Given the description of an element on the screen output the (x, y) to click on. 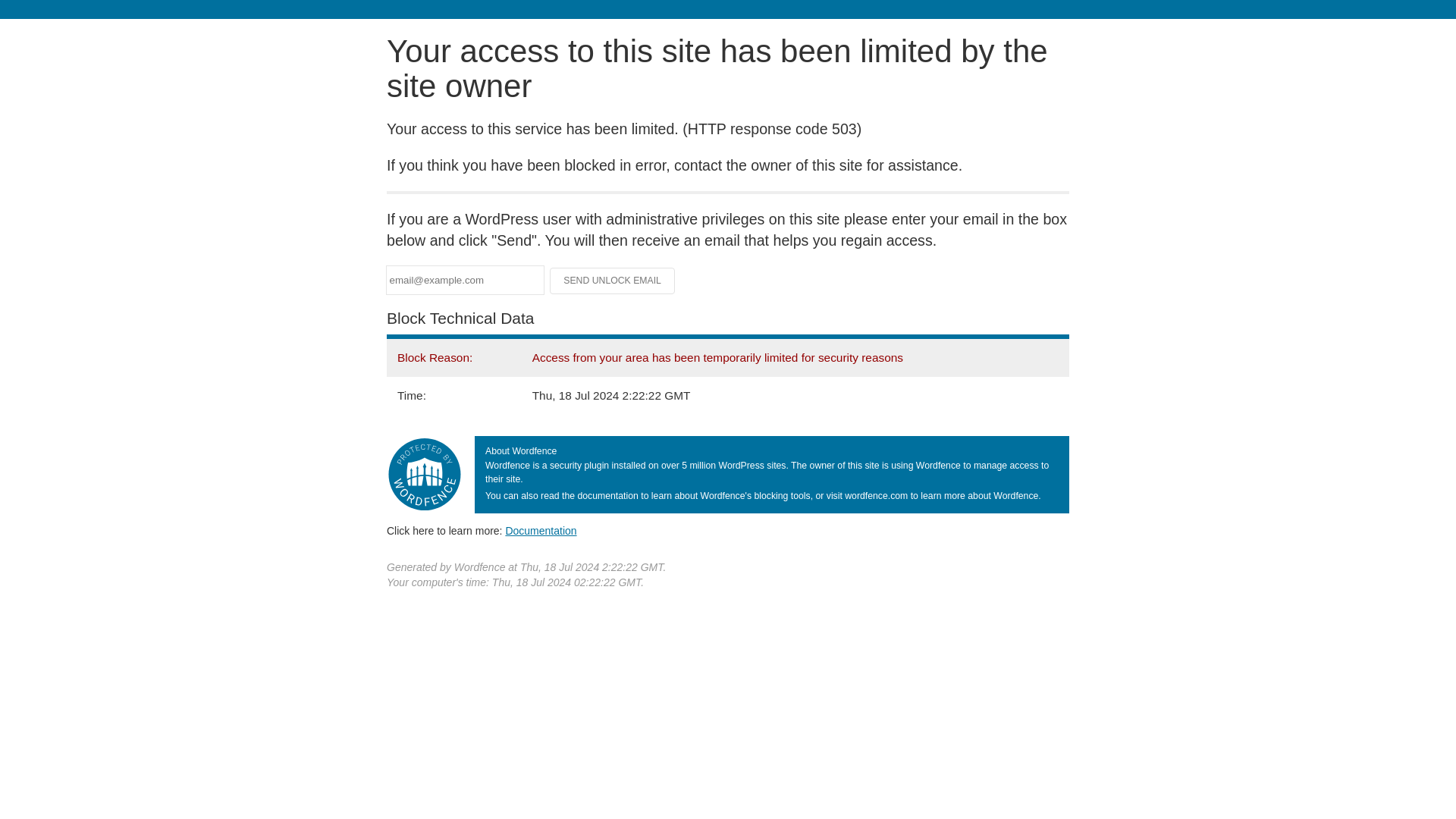
Send Unlock Email (612, 280)
Send Unlock Email (612, 280)
